Given the description of an element on the screen output the (x, y) to click on. 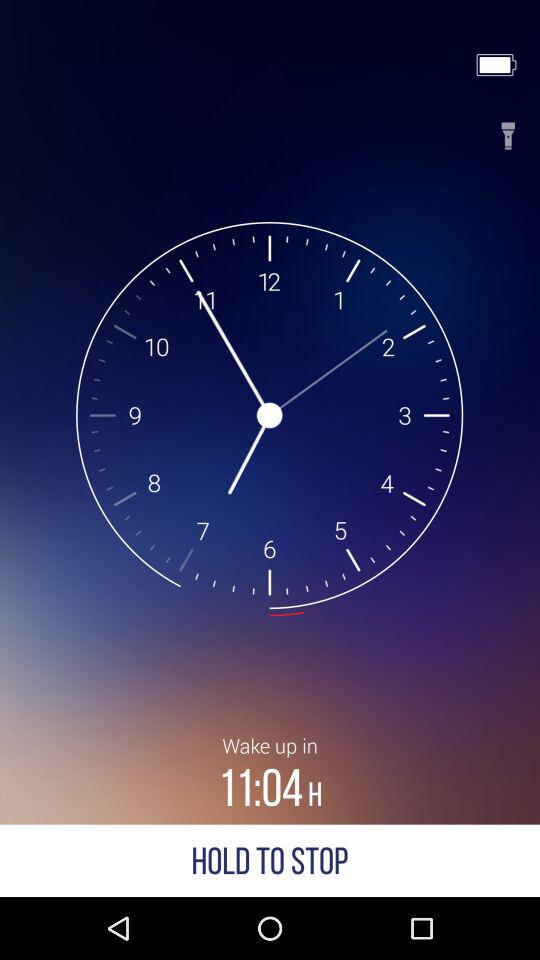
ativar lanterna (508, 129)
